Given the description of an element on the screen output the (x, y) to click on. 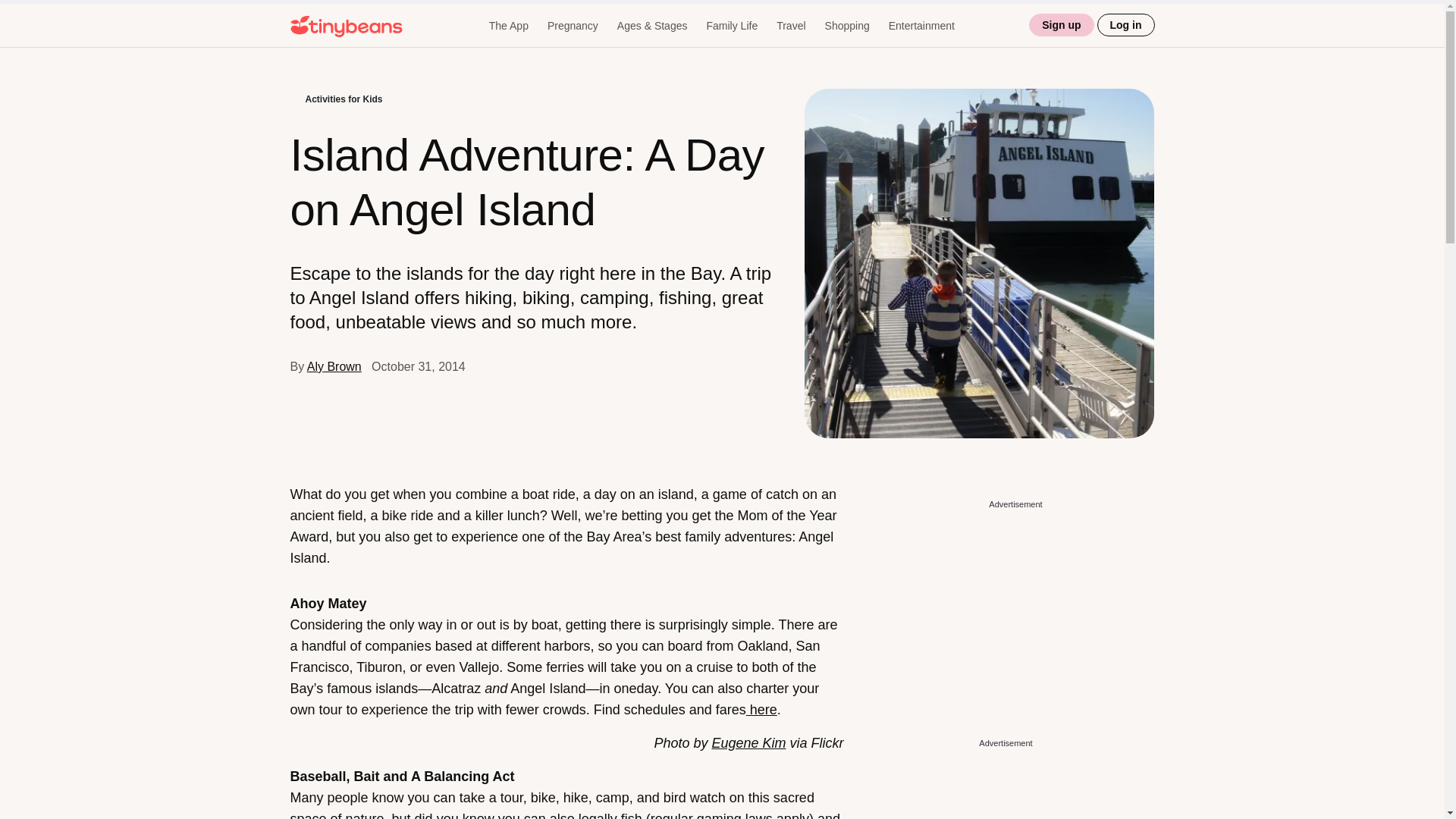
Go to Eugene Kim's photostream (748, 743)
Posts by Aly Brown (334, 366)
Family Life (731, 25)
Pregnancy (572, 25)
The App (508, 25)
